Given the description of an element on the screen output the (x, y) to click on. 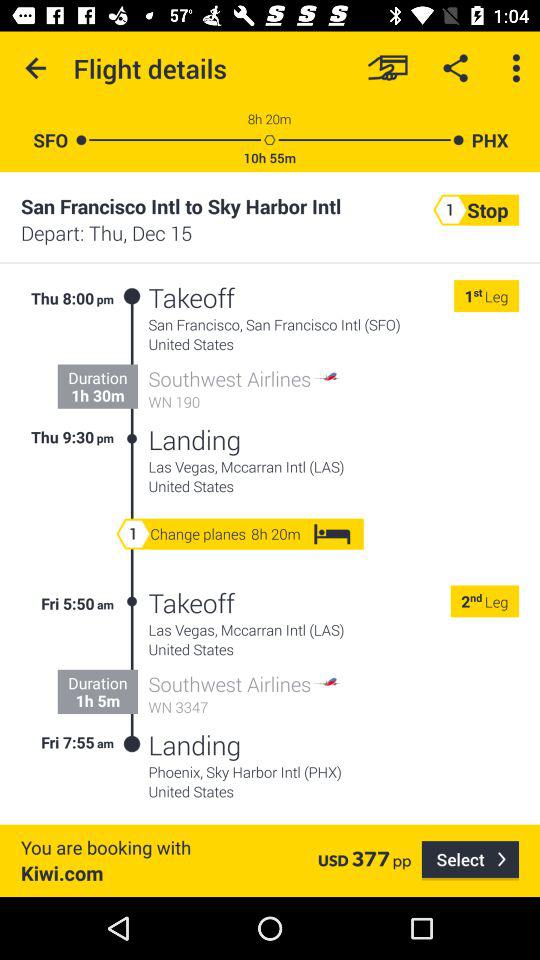
swipe until 1h 30m (97, 395)
